Given the description of an element on the screen output the (x, y) to click on. 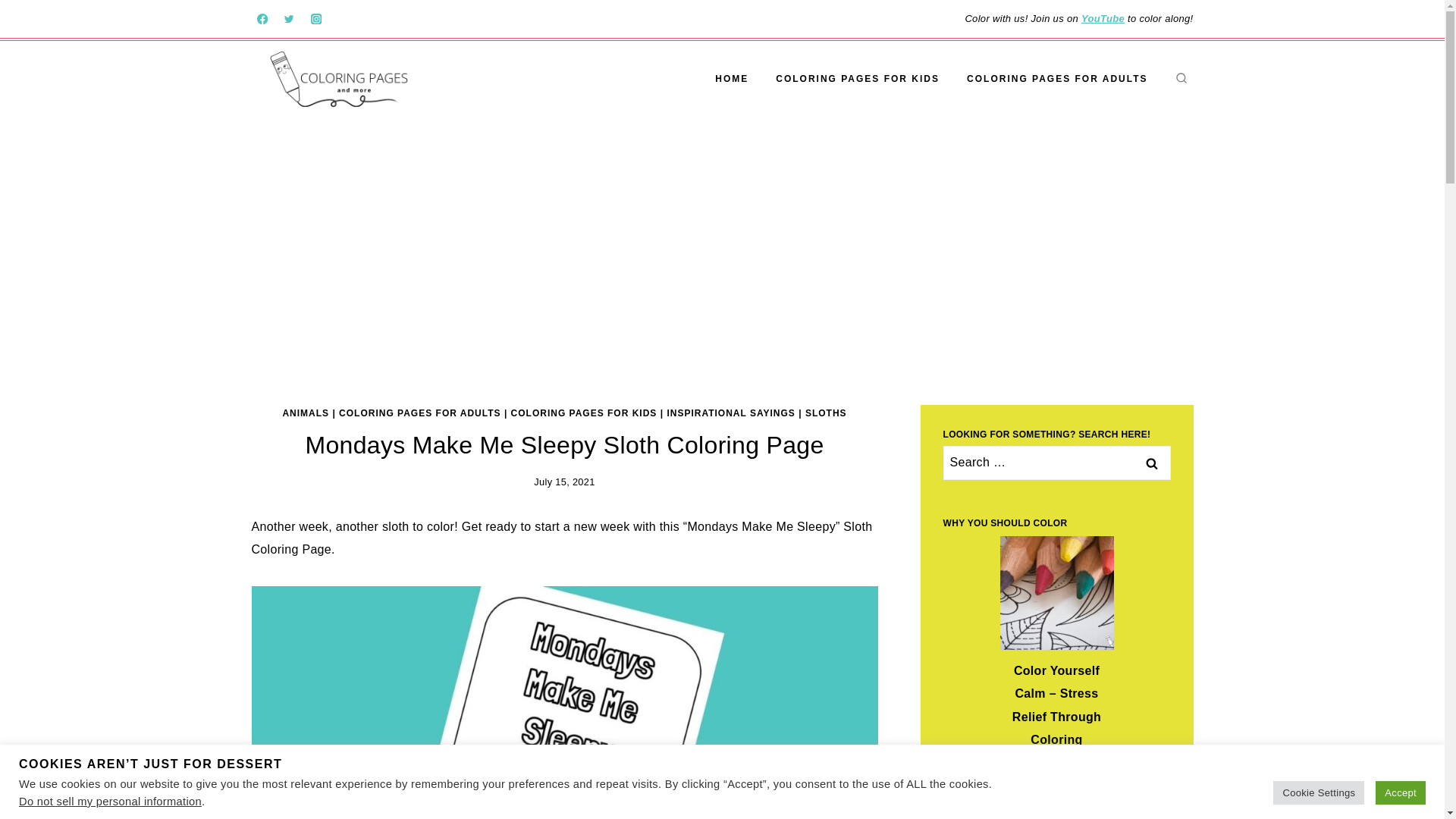
COLORING PAGES FOR ADULTS (1056, 79)
SLOTHS (826, 412)
COLORING PAGES FOR KIDS (584, 412)
Search (1151, 462)
YouTube (1102, 18)
COLORING PAGES FOR KIDS (857, 79)
COLORING PAGES FOR ADULTS (419, 412)
INSPIRATIONAL SAYINGS (730, 412)
ANIMALS (305, 412)
